Given the description of an element on the screen output the (x, y) to click on. 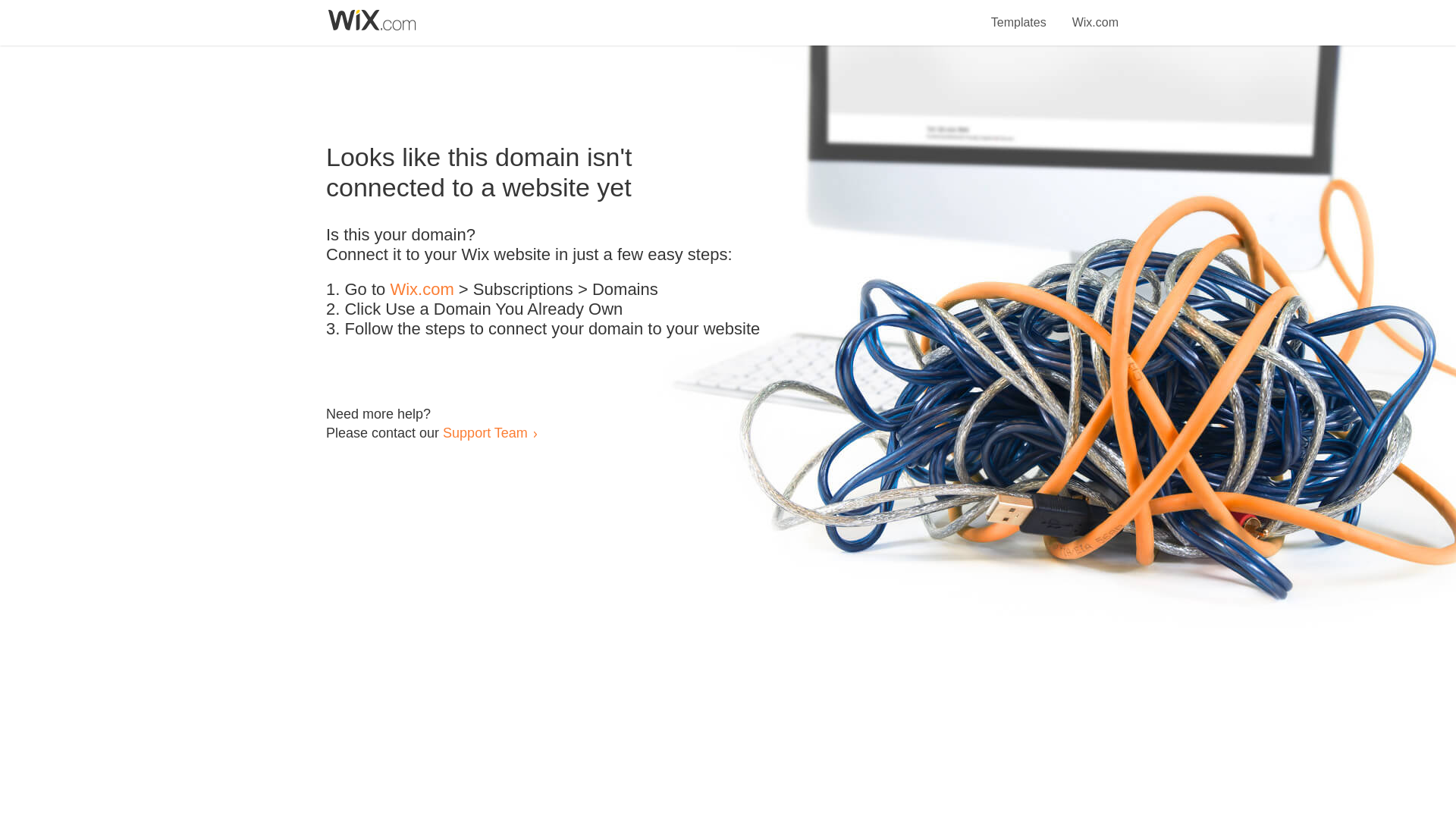
Wix.com (1095, 14)
Wix.com (421, 289)
Templates (1018, 14)
Support Team (484, 432)
